Given the description of an element on the screen output the (x, y) to click on. 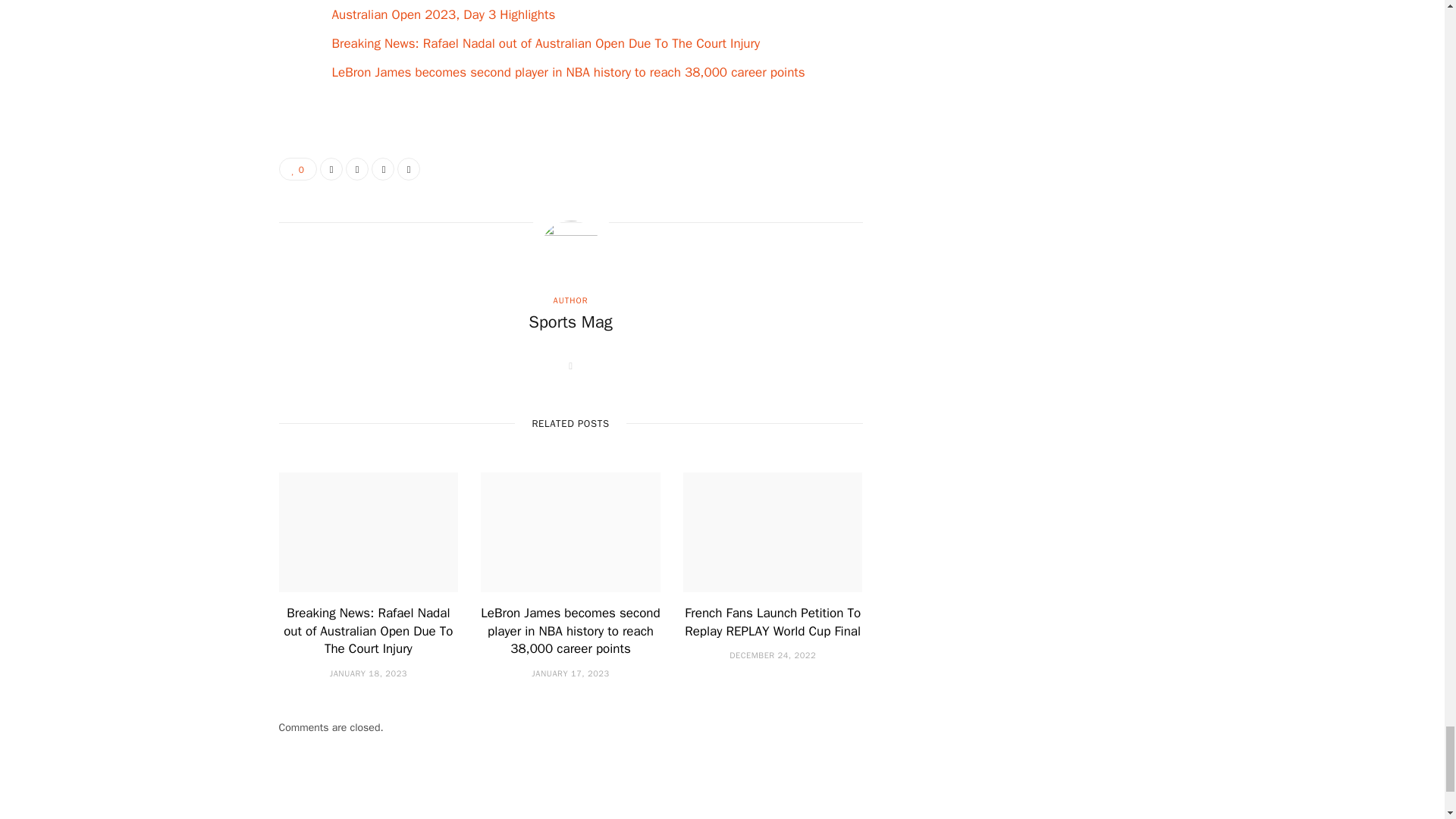
Share on Facebook (331, 169)
Sports Mag (569, 322)
Posts by Sports Mag (569, 322)
Share on Twitter (357, 169)
Australian Open 2023, Day 3 Highlights (442, 14)
0 (298, 169)
Share on Pinterest (408, 169)
